Given the description of an element on the screen output the (x, y) to click on. 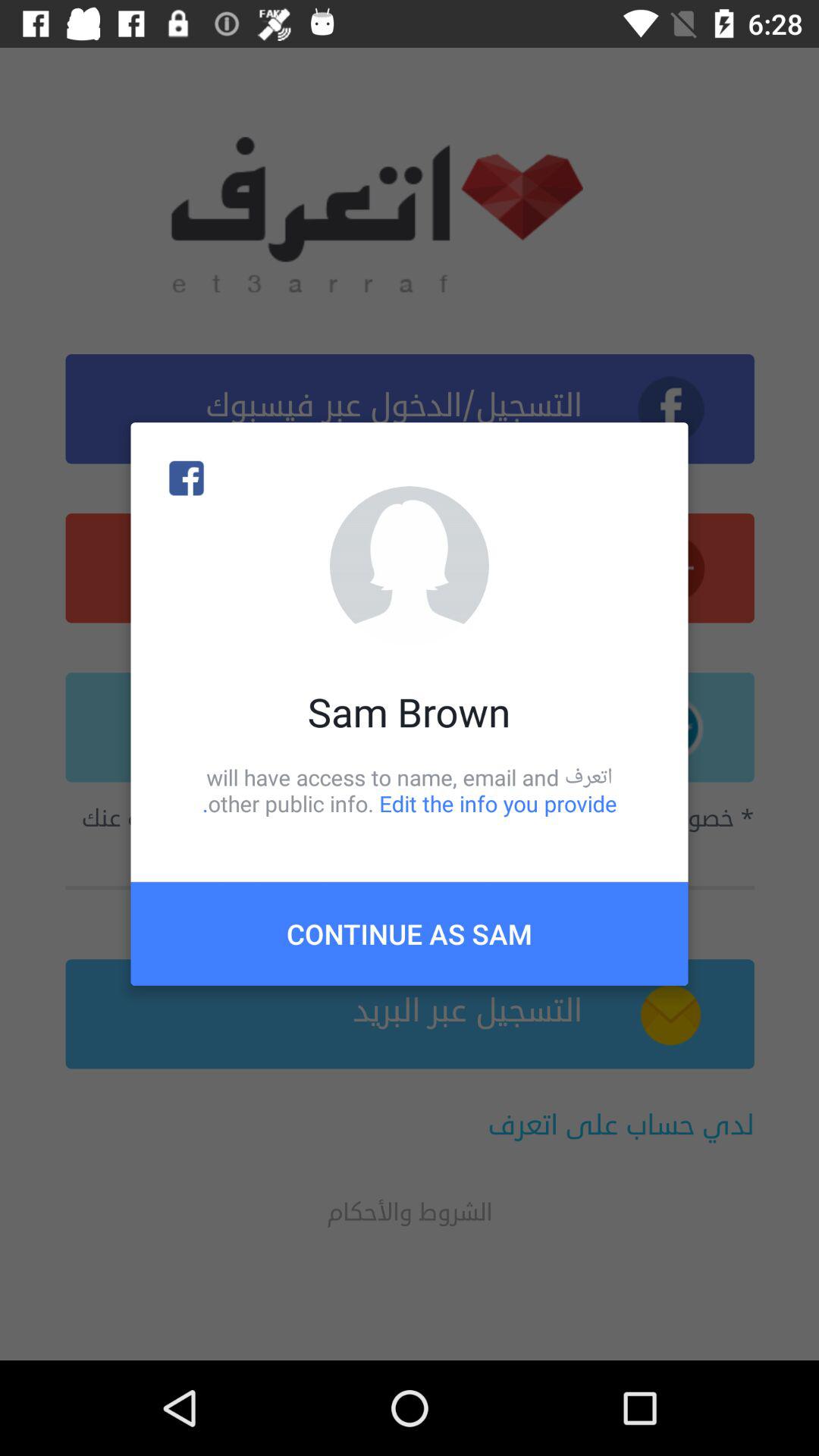
press the icon above continue as sam (409, 790)
